Given the description of an element on the screen output the (x, y) to click on. 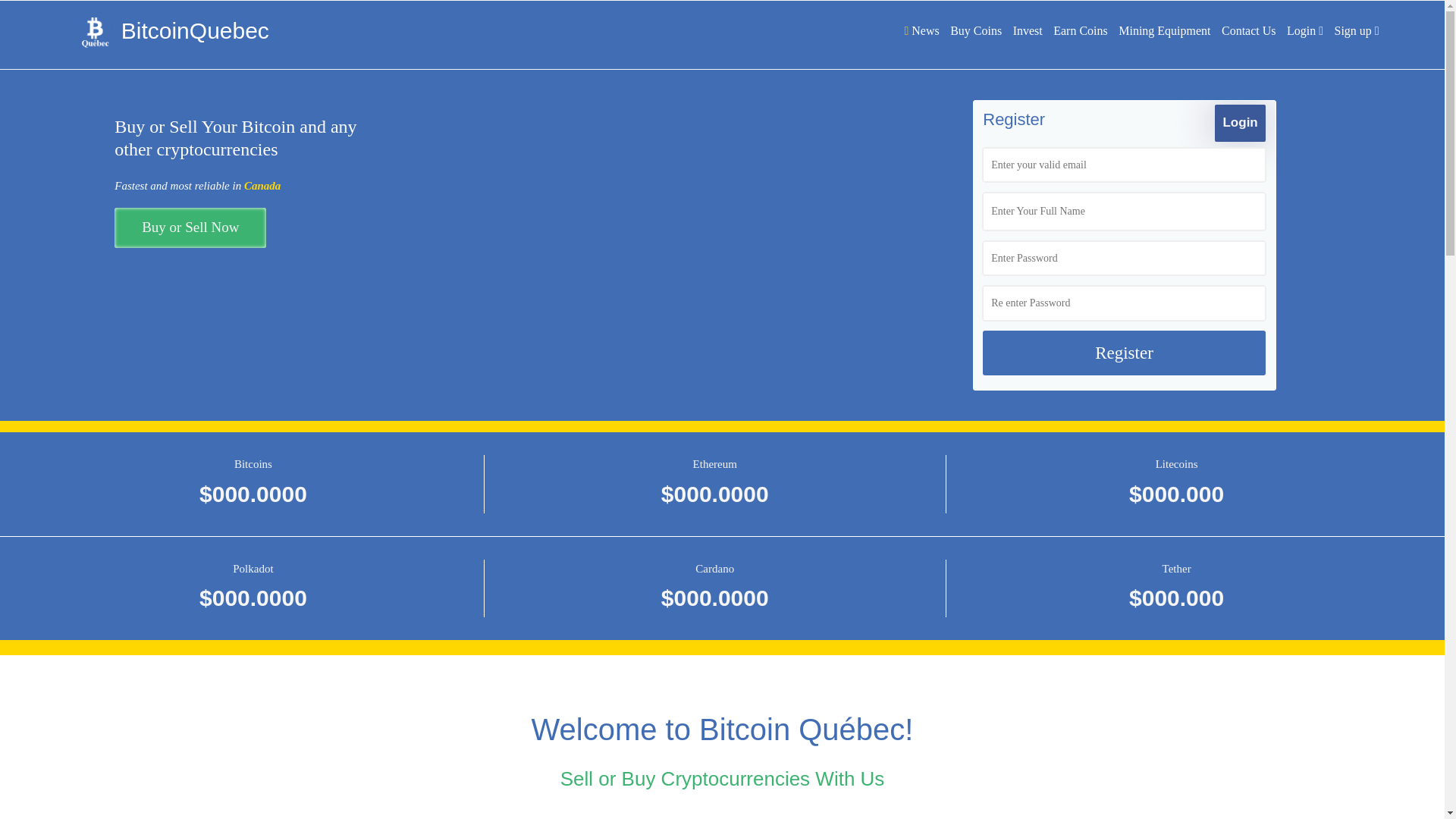
Earn Coins Element type: text (1080, 30)
Contact Us Element type: text (1248, 30)
Login Element type: text (1304, 30)
Buy Coins Element type: text (975, 30)
Register Element type: text (1123, 352)
Login Element type: text (1239, 122)
Buy or Sell Now Element type: text (190, 227)
Invest Element type: text (1027, 30)
News Element type: text (920, 30)
Sign up Element type: text (1356, 30)
Mining Equipment Element type: text (1164, 30)
